Given the description of an element on the screen output the (x, y) to click on. 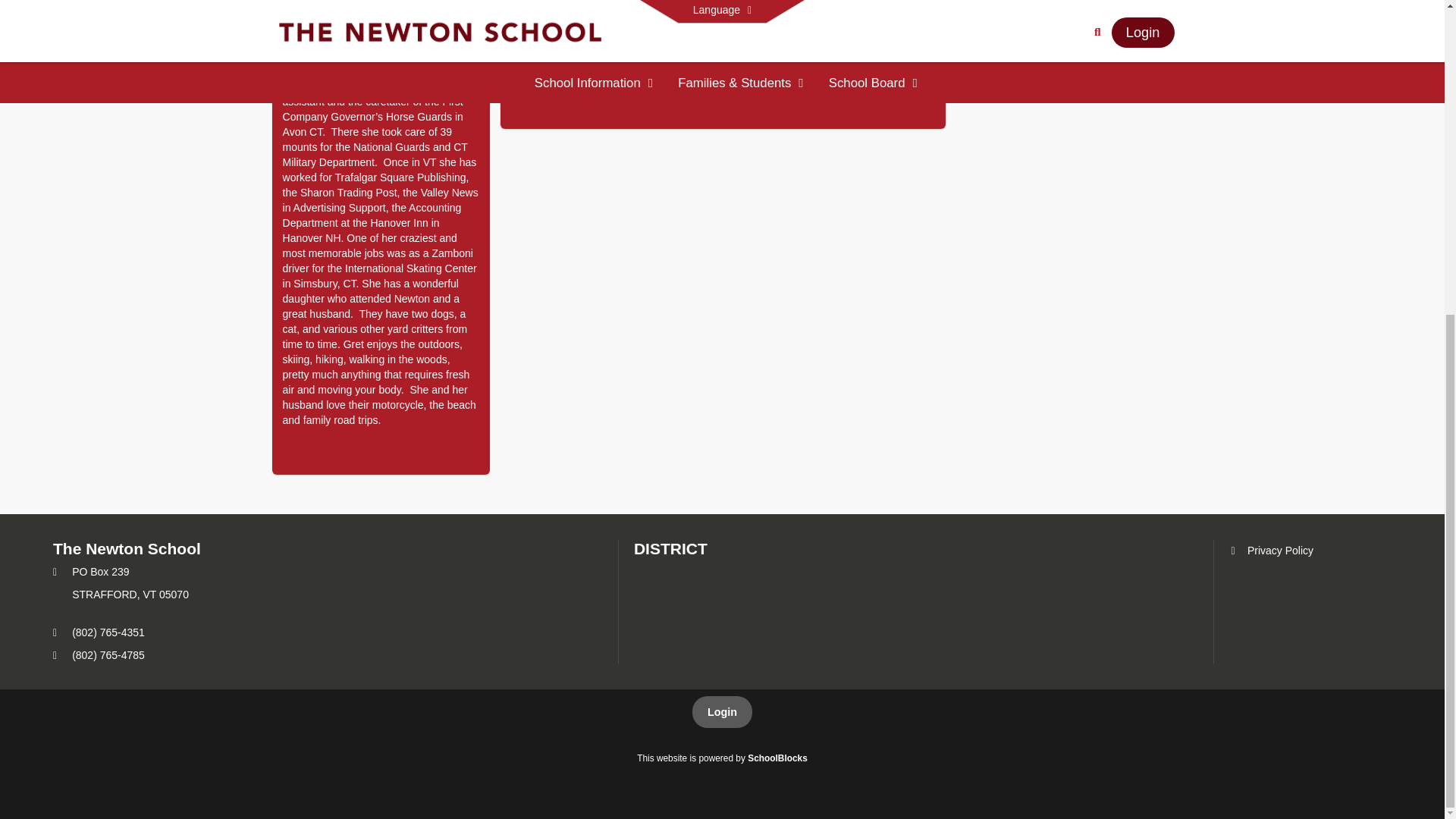
Privacy Policy (1270, 550)
Privacy Policy (1270, 550)
Login (722, 712)
SchoolBlocks (778, 757)
DISTRICT (670, 548)
